Given the description of an element on the screen output the (x, y) to click on. 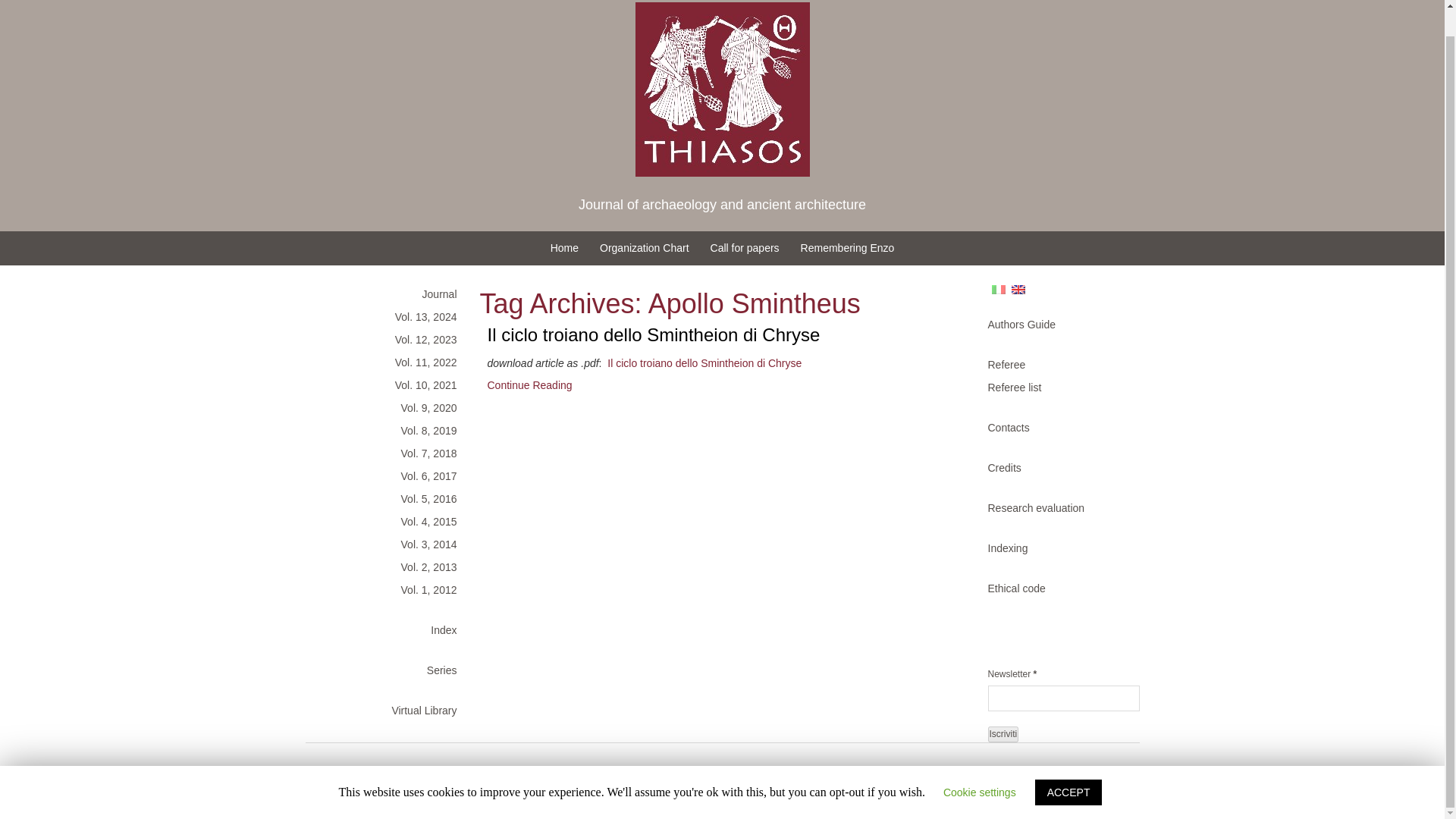
Referee (1055, 363)
Vol. 10, 2021 (388, 384)
Remembering Enzo (847, 247)
Vol. 7, 2018 (388, 453)
Indexing (1055, 548)
Index (388, 630)
Vol. 11, 2022 (388, 362)
Continue Reading (529, 385)
Vol. 1, 2012 (388, 589)
Vol. 3, 2014 (388, 544)
Vol. 8, 2019 (388, 430)
Vol. 6, 2017 (388, 476)
Il ciclo troiano dello Smintheion di Chryse (704, 363)
Vol. 13, 2024 (388, 316)
Vol. 9, 2020 (388, 407)
